Given the description of an element on the screen output the (x, y) to click on. 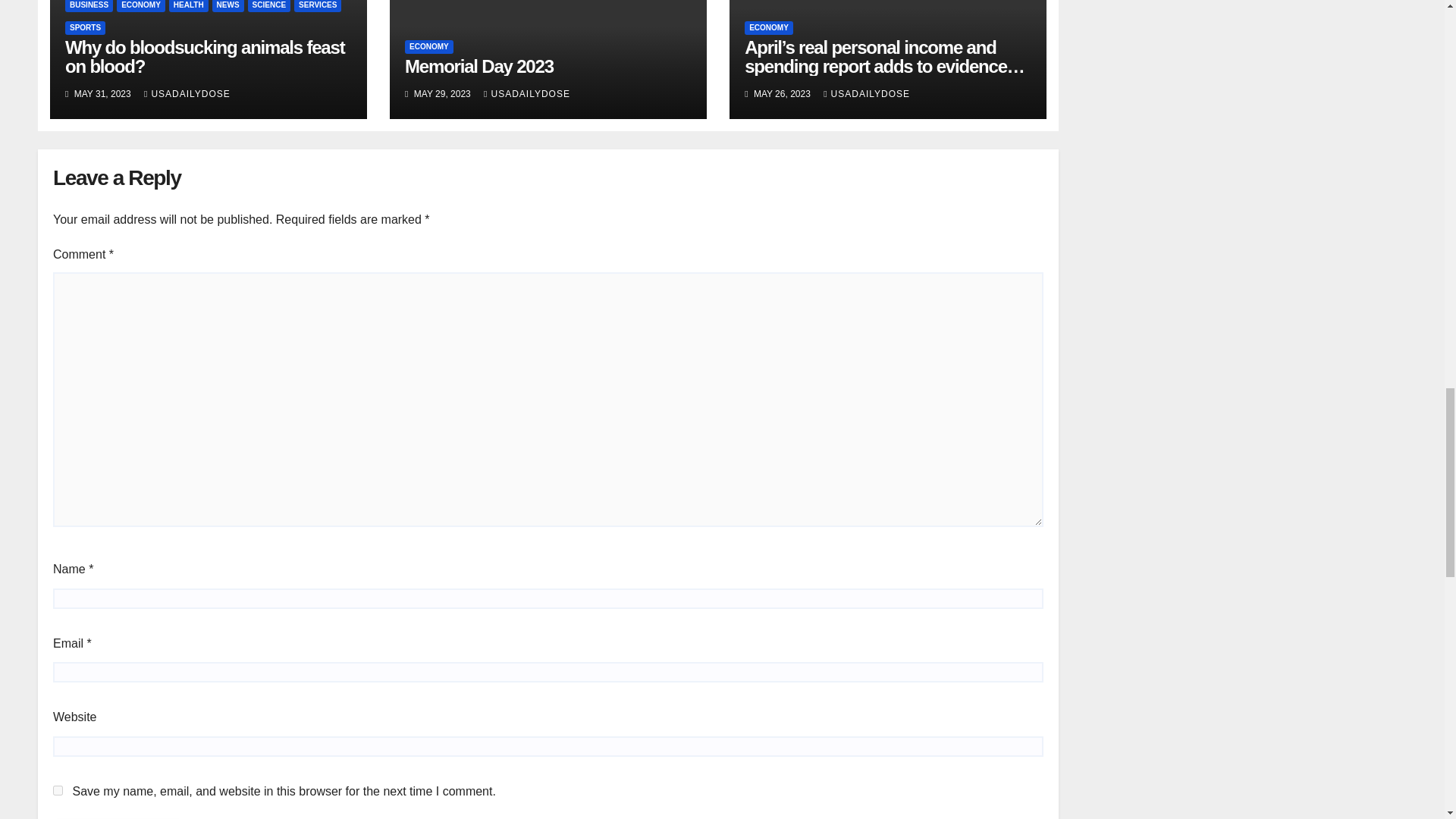
Permalink to: Why do bloodsucking animals feast on blood? (204, 56)
yes (57, 790)
Permalink to: Memorial Day 2023 (478, 66)
